Given the description of an element on the screen output the (x, y) to click on. 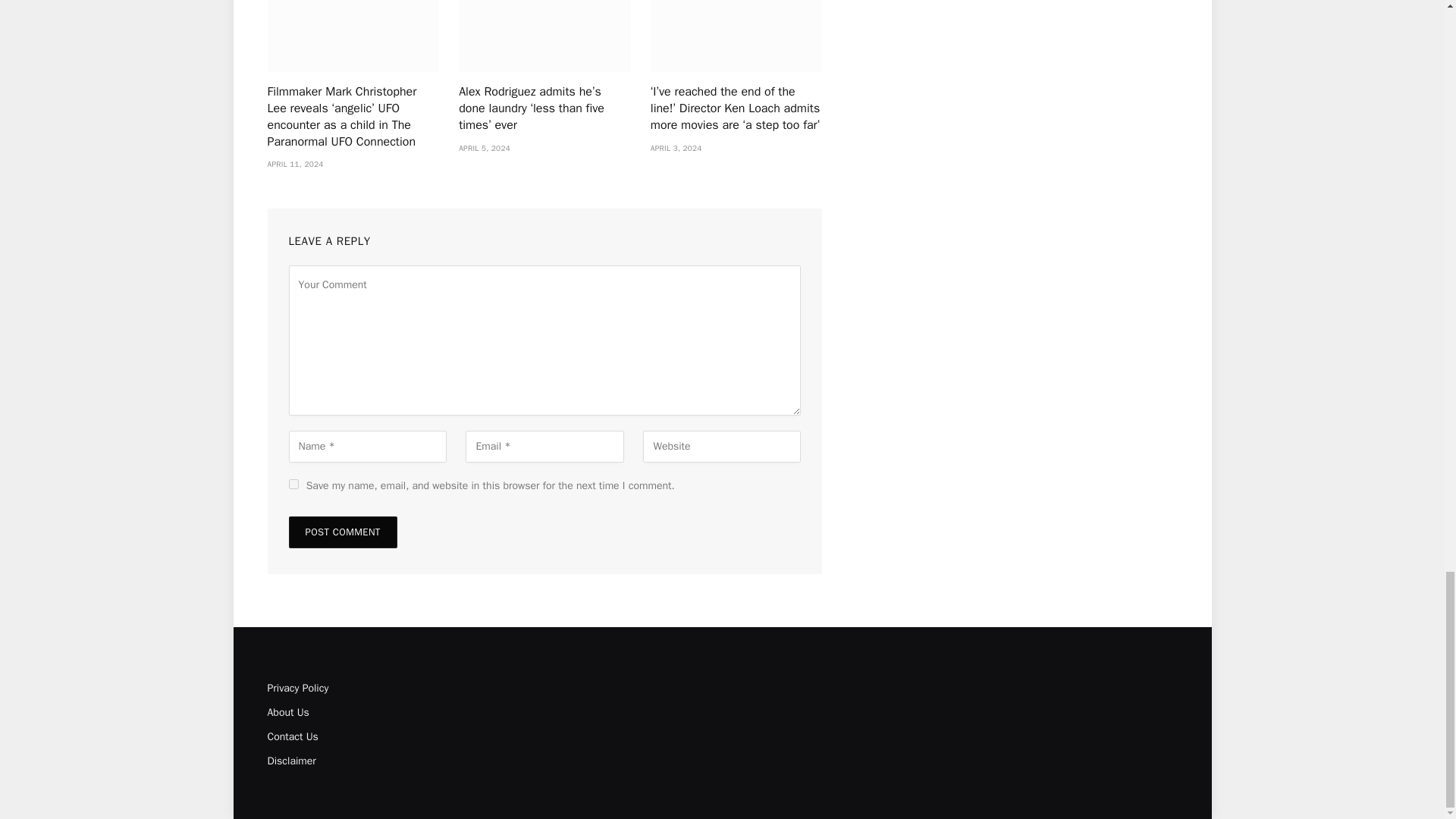
yes (293, 483)
Post Comment (342, 531)
